Given the description of an element on the screen output the (x, y) to click on. 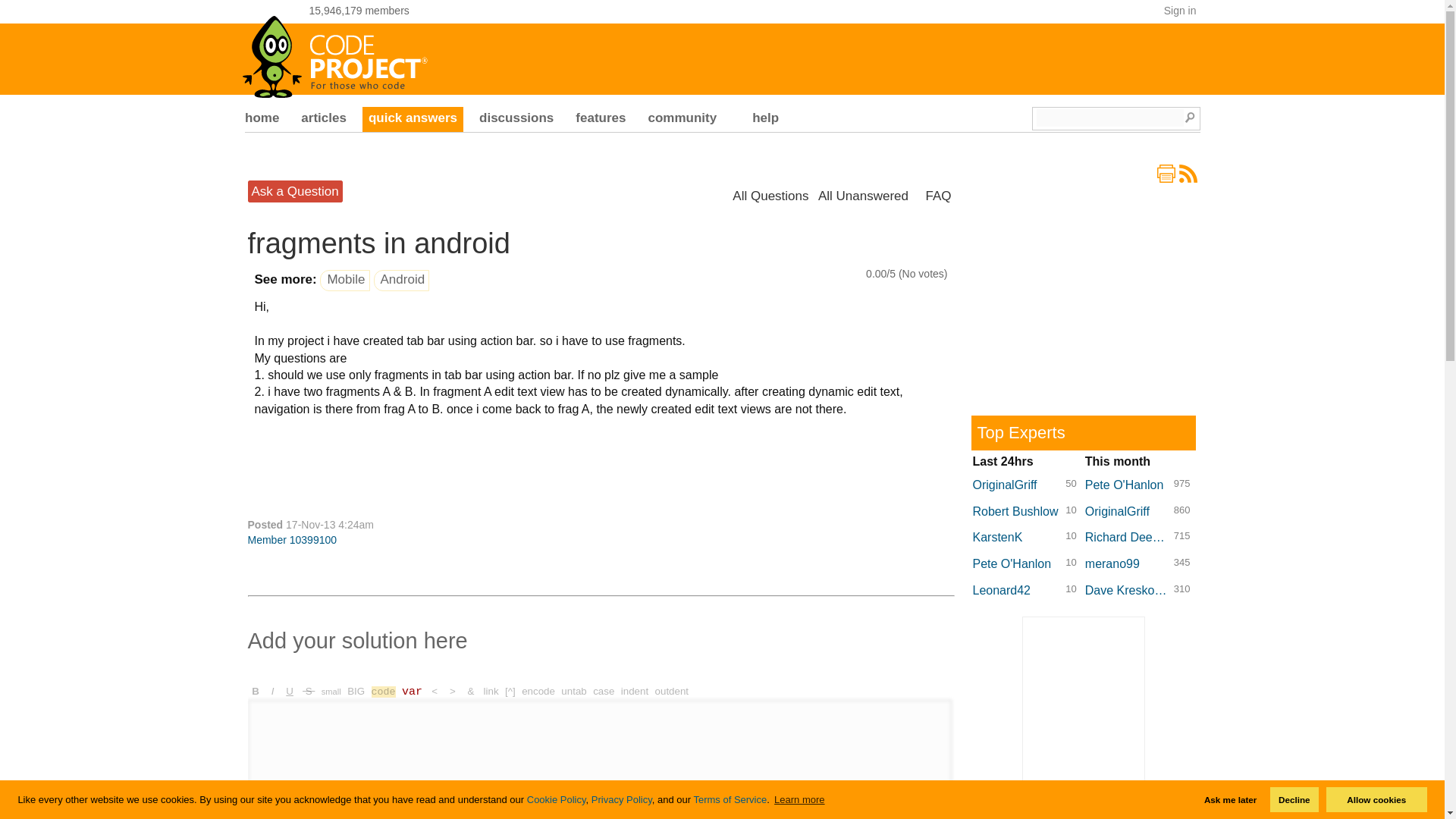
Wrap the Selected Text in HTML small Tags (331, 690)
Cookie Policy (556, 799)
Wrap the Selected Text in HTML strike through Tags (308, 690)
Wrap the Selected Text in HTML Underline Tags (290, 690)
Allow cookies (1376, 799)
Terms of Service (730, 799)
quick answers (412, 119)
Privacy Policy (621, 799)
Learn more (799, 799)
Sign in (1179, 10)
discussions (516, 119)
Ask me later (1230, 799)
Wrap the Selected Text in HTML big Tags (356, 690)
